Given the description of an element on the screen output the (x, y) to click on. 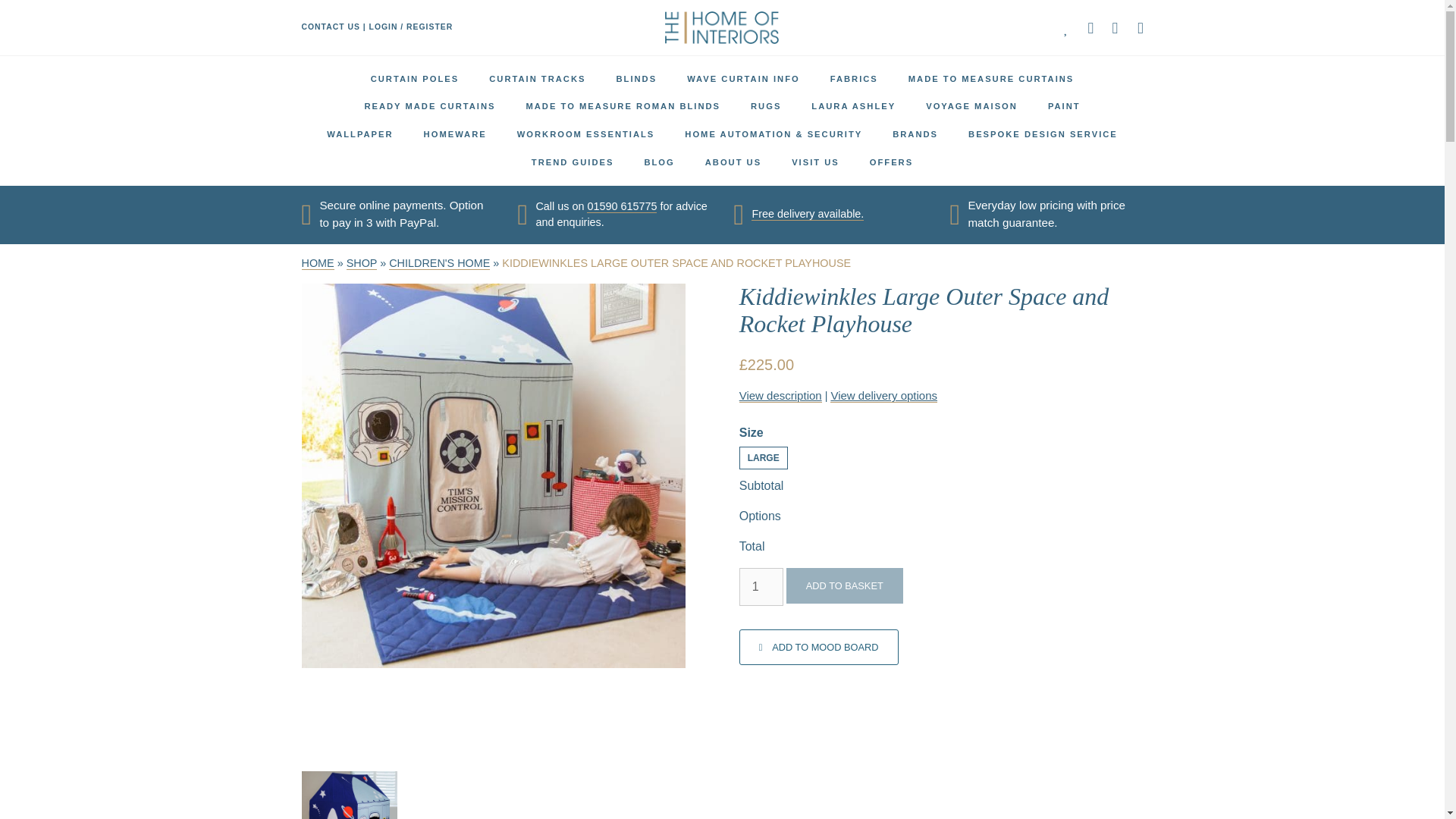
WAVE CURTAIN INFO (743, 79)
CURTAIN POLES (414, 79)
BLINDS (635, 79)
READY MADE CURTAINS (430, 106)
Outer Space and Rocket Playhouse front and side door tied up (349, 795)
FABRICS (854, 79)
CONTACT US (330, 26)
CURTAIN TRACKS (536, 79)
MADE TO MEASURE CURTAINS (991, 79)
RUGS (765, 106)
1 (761, 587)
large (763, 457)
MADE TO MEASURE ROMAN BLINDS (623, 106)
